Given the description of an element on the screen output the (x, y) to click on. 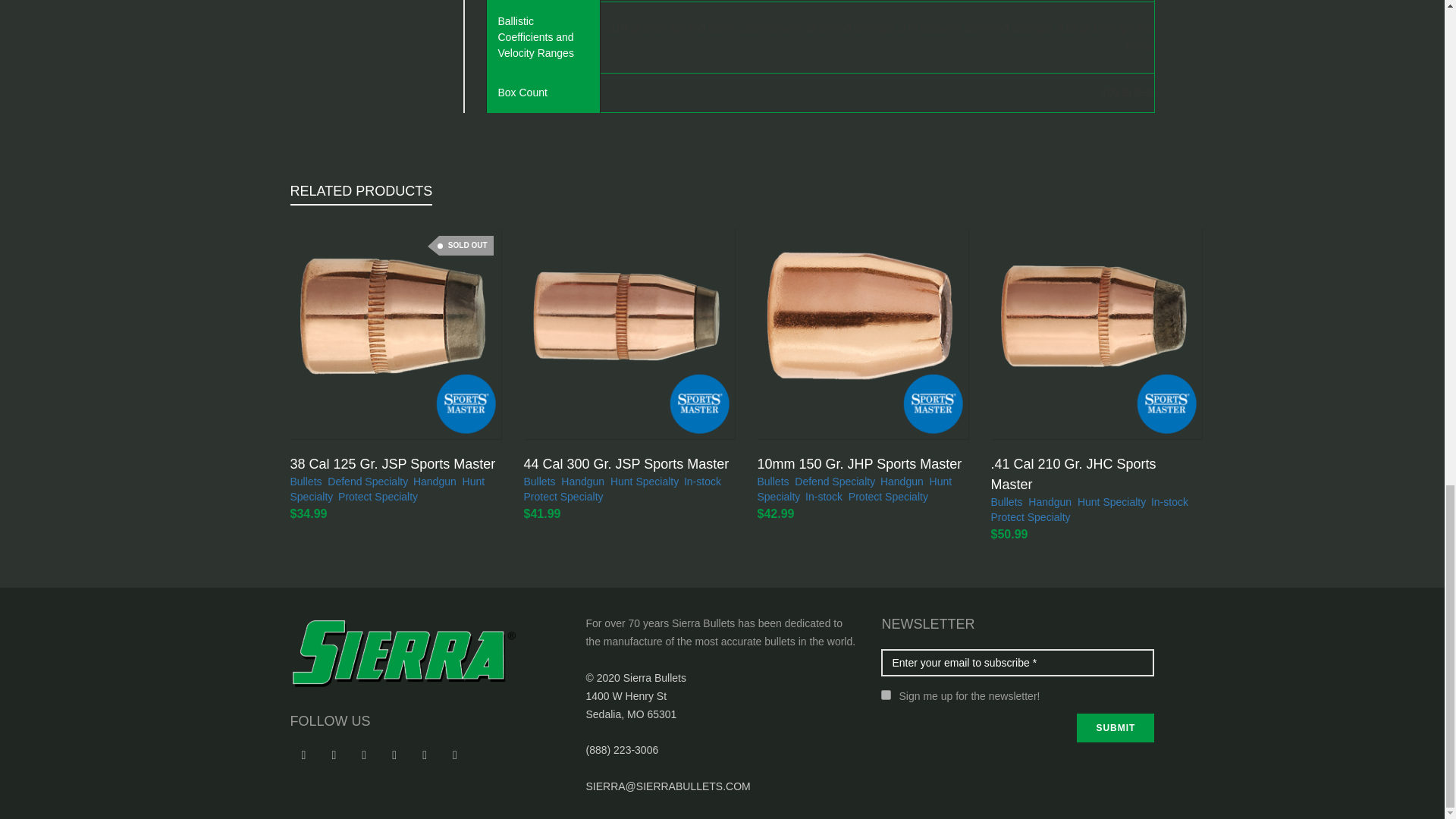
1 (885, 695)
Submit (1115, 727)
